Given the description of an element on the screen output the (x, y) to click on. 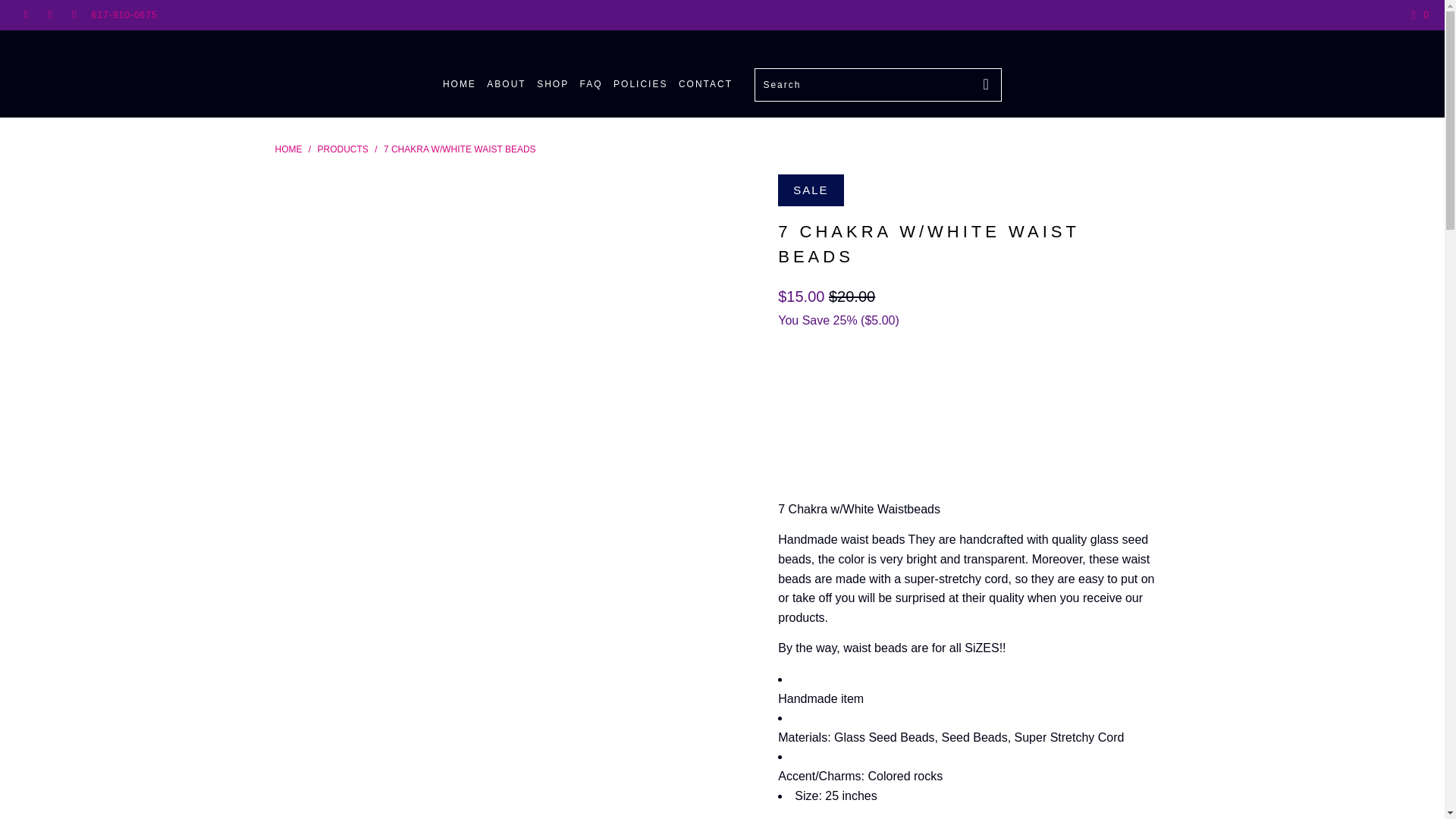
Shawneez Jewelz Unlimited LLC on Facebook (25, 14)
ABOUT (505, 85)
POLICIES (639, 85)
CONTACT (705, 85)
Email Shawneez Jewelz Unlimited LLC (73, 14)
Products (344, 149)
HOME (288, 149)
Shawneez Jewelz Unlimited LLC (288, 149)
Shawneez Jewelz Unlimited LLC on Instagram (49, 14)
617-910-0675 (124, 15)
